Given the description of an element on the screen output the (x, y) to click on. 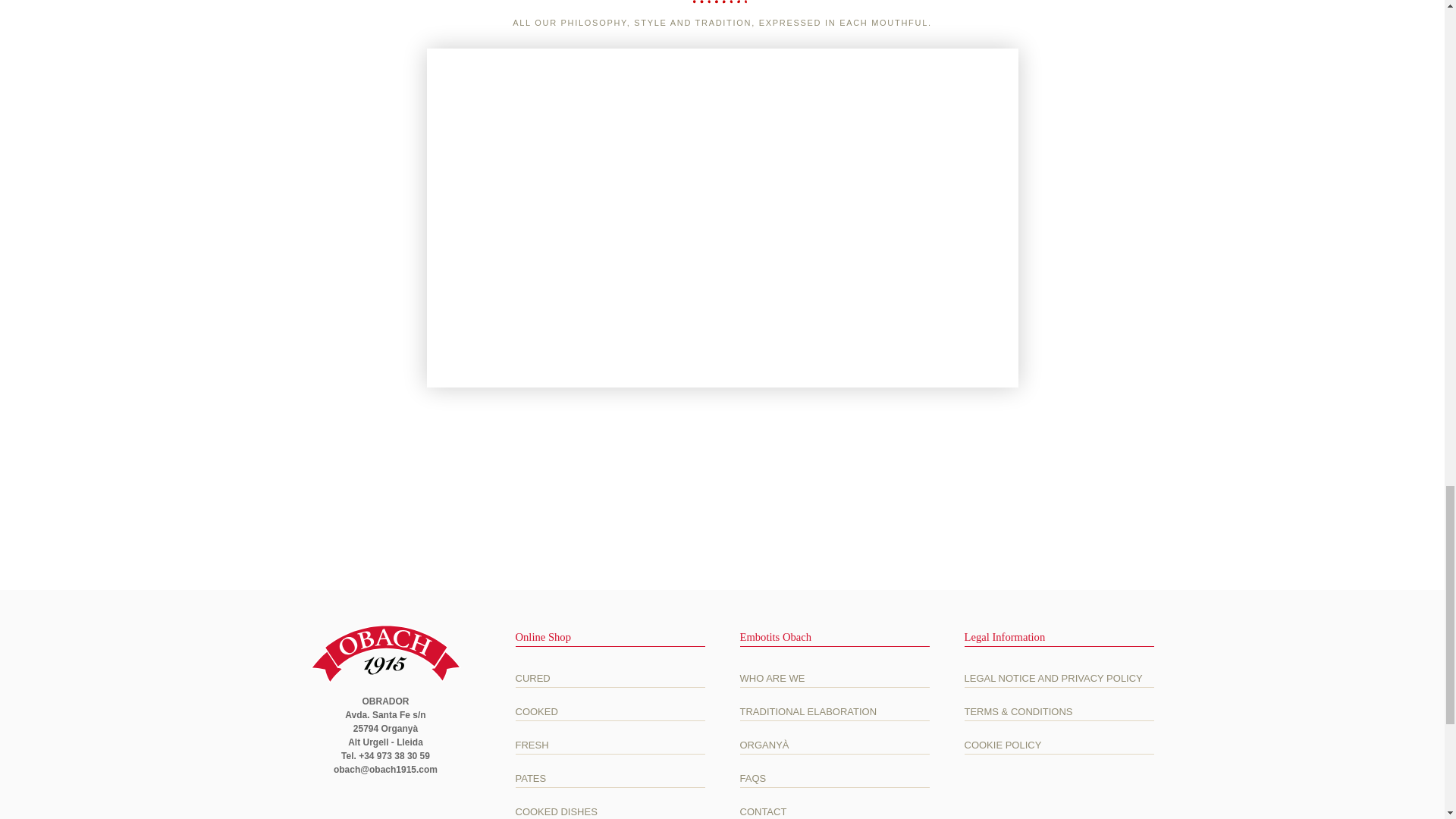
FRESH (609, 744)
WHO ARE WE (834, 678)
Embotits Obach (384, 653)
TRADITIONAL ELABORATION (834, 711)
PATES (609, 778)
CONTACT (834, 811)
COOKED DISHES (609, 811)
CURED (609, 678)
FAQS (834, 778)
COOKIE POLICY (1058, 744)
COOKED (609, 711)
LEGAL NOTICE AND PRIVACY POLICY (1058, 678)
